Given the description of an element on the screen output the (x, y) to click on. 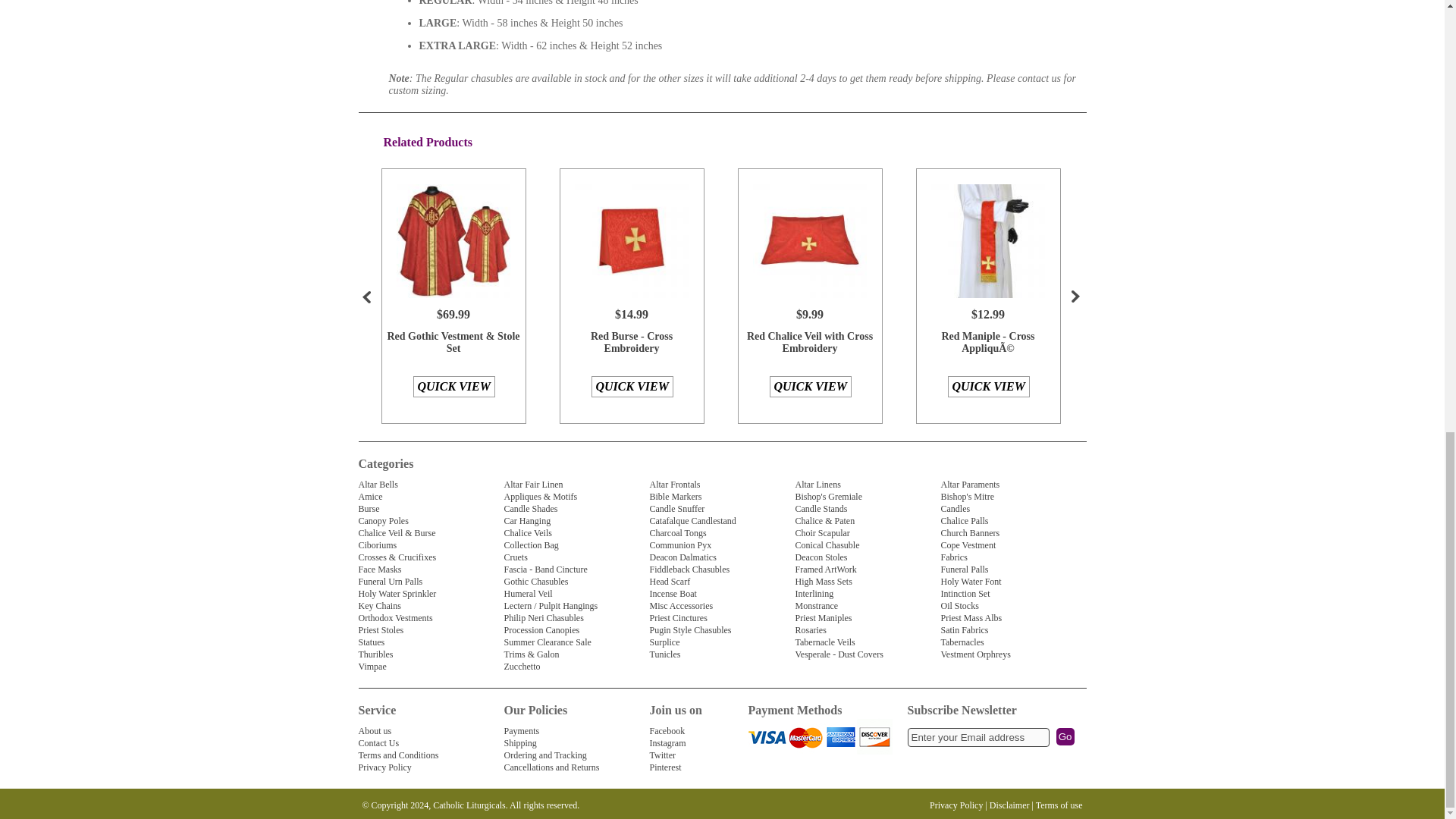
Enter your Email address (977, 737)
